Given the description of an element on the screen output the (x, y) to click on. 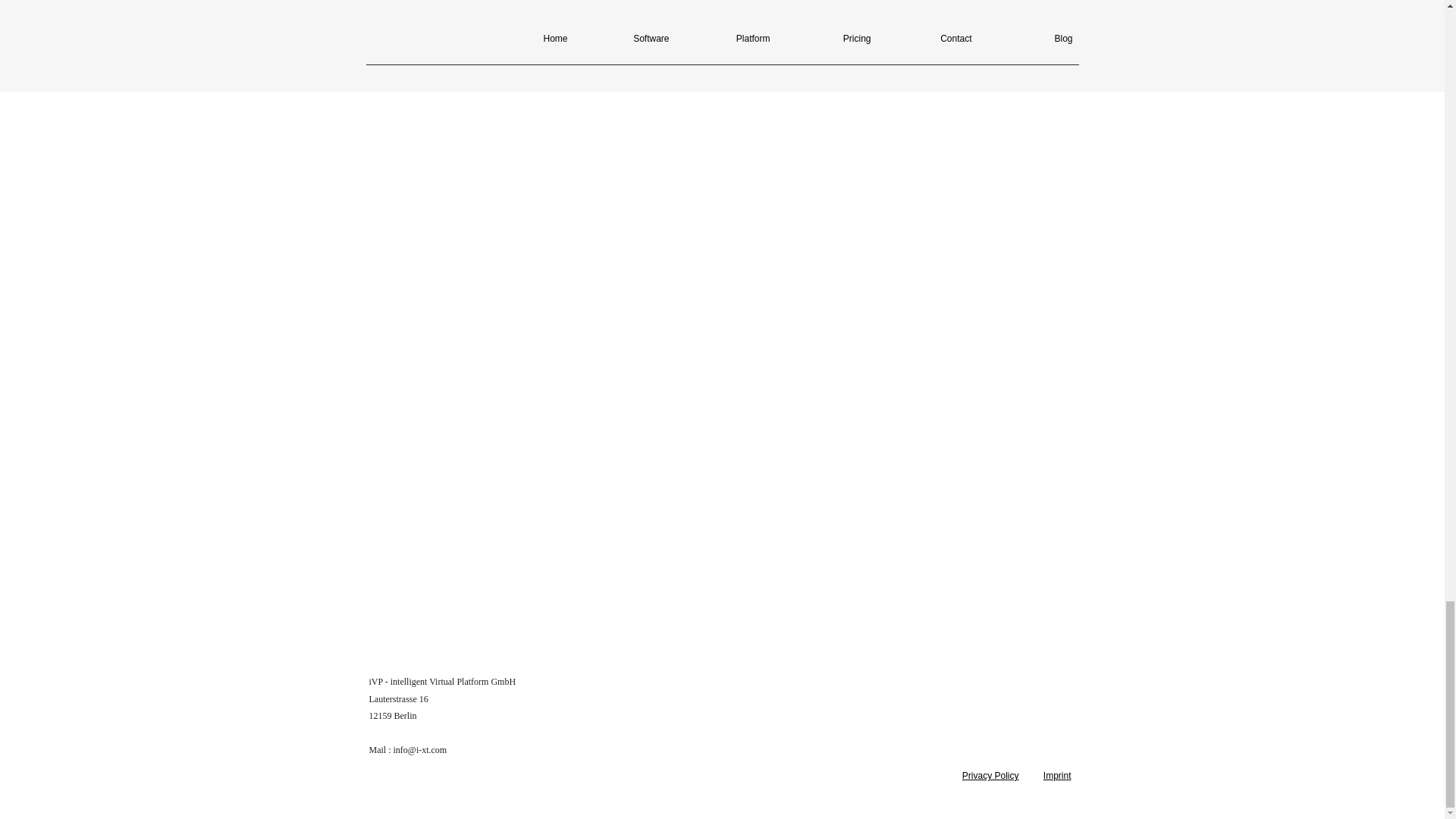
Imprint (1057, 775)
Privacy Policy (990, 775)
